Given the description of an element on the screen output the (x, y) to click on. 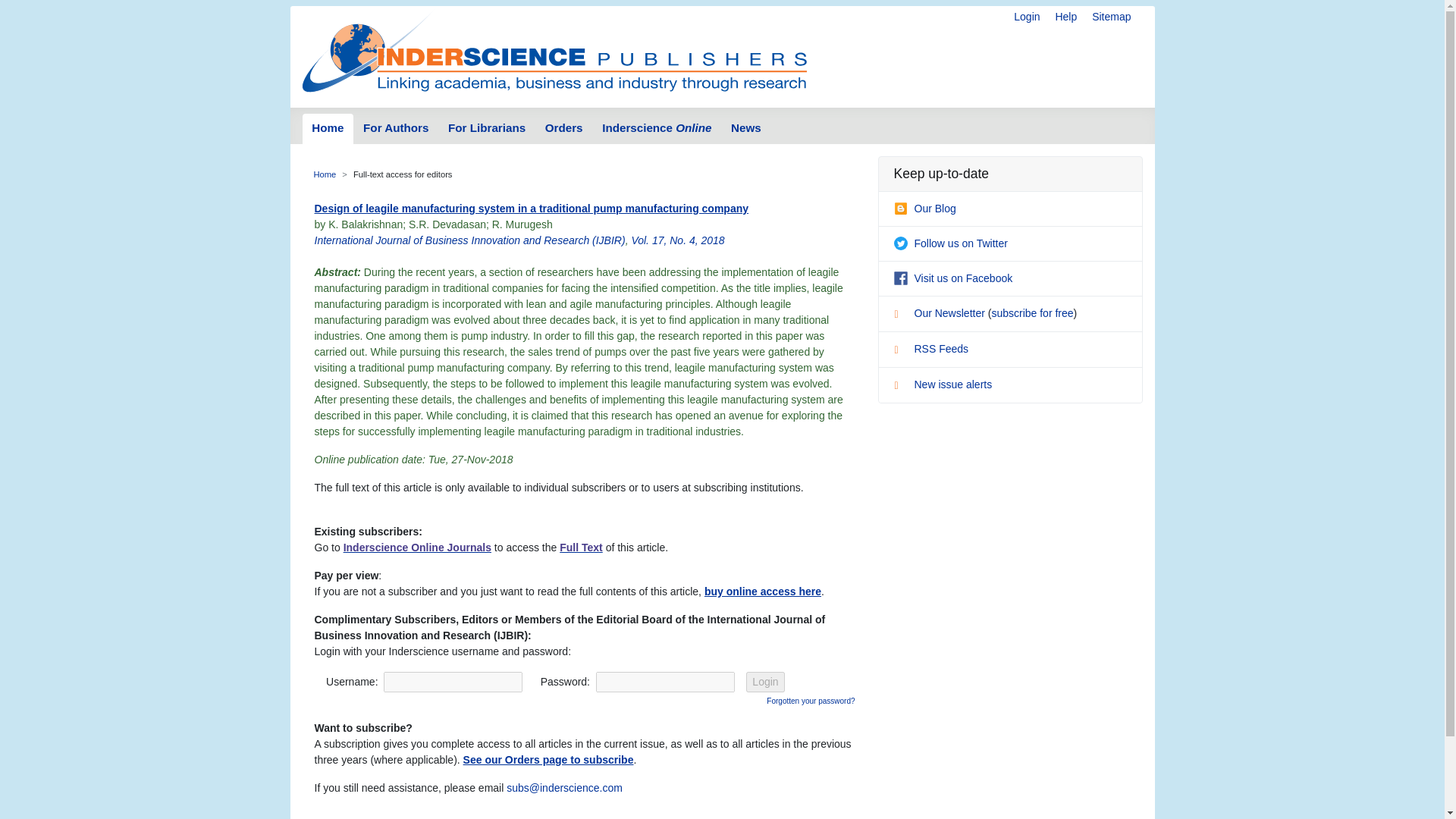
New issue alerts (942, 384)
RSS (901, 351)
Sitemap (1111, 16)
Home (327, 128)
Sitemap (1111, 16)
Vol. 17, No. 4, 2018 (676, 240)
Our Newsletter (940, 313)
Login (1026, 16)
Login (764, 681)
Inderscience Online Journals (417, 547)
Inderscience Publishers - return to the homepage (553, 50)
Login (1026, 16)
Follow us on Twitter (950, 243)
Login (764, 681)
